Given the description of an element on the screen output the (x, y) to click on. 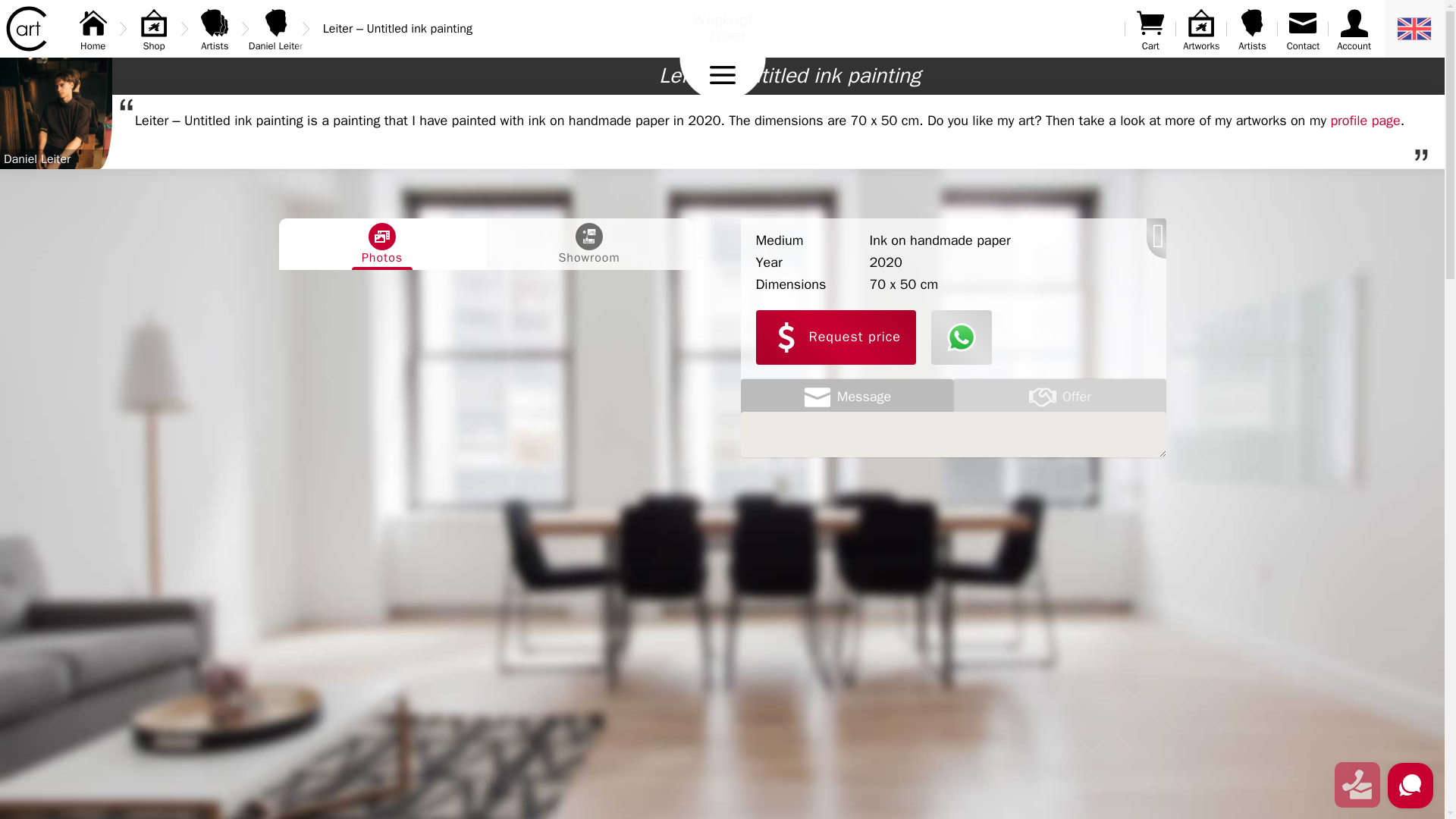
Message (846, 397)
Title of the artwork (789, 76)
WhatsApp (961, 337)
Home (92, 28)
Offer (1059, 397)
Daniel Leiter (275, 28)
Shop (153, 28)
Artists (1251, 28)
